Given the description of an element on the screen output the (x, y) to click on. 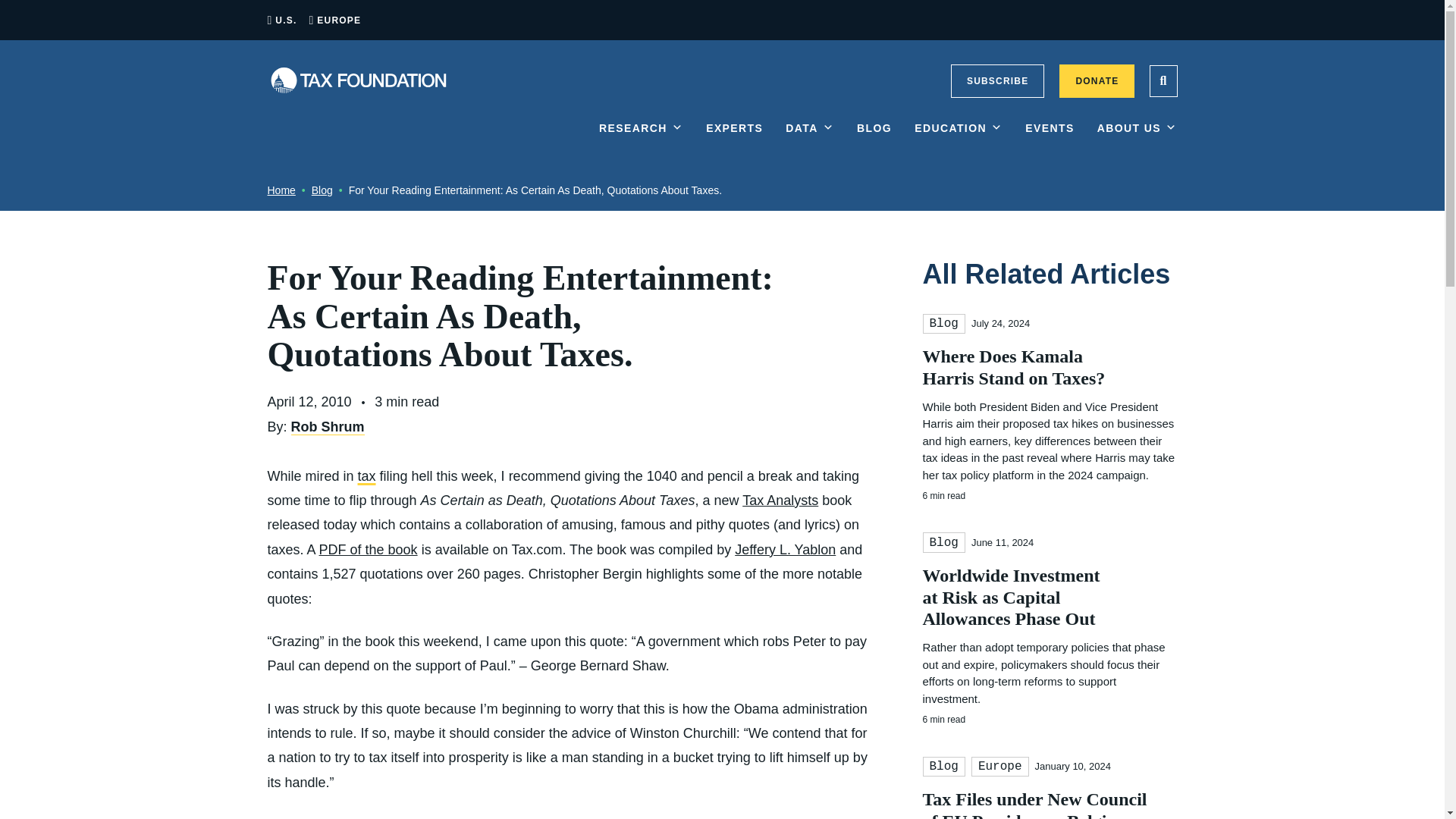
DONATE (1096, 80)
DATA (810, 140)
SUBSCRIBE (996, 80)
U.S. (286, 20)
Tax Foundation (357, 80)
EUROPE (339, 20)
EXPERTS (734, 140)
RESEARCH (640, 140)
